Given the description of an element on the screen output the (x, y) to click on. 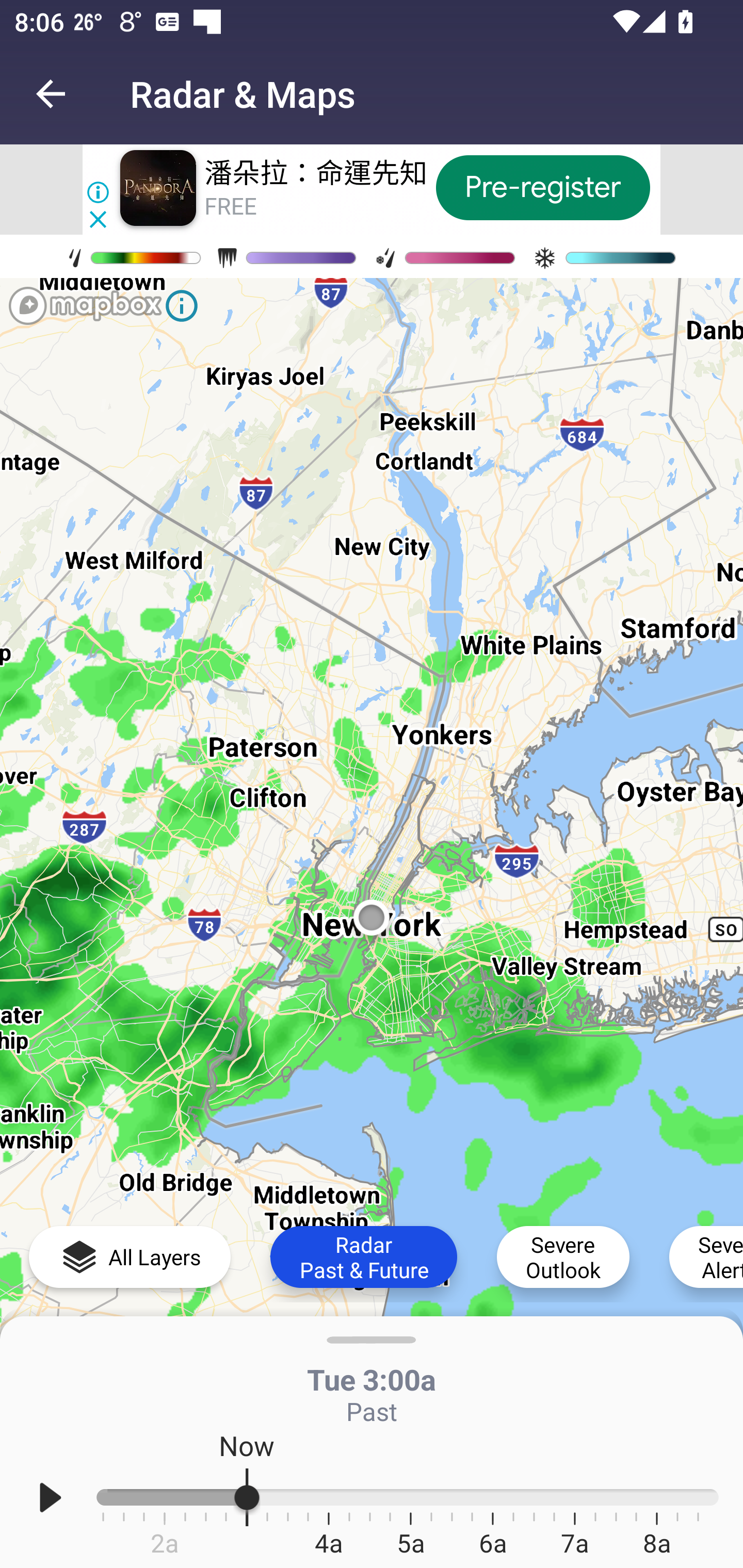
Navigate up (50, 93)
潘朵拉：命運先知 (316, 173)
Pre-register (542, 187)
FREE (230, 206)
All Layers (129, 1256)
Radar
Past & Future Radar Past & Future (363, 1256)
Severe
Outlook Severe Outlook (563, 1256)
Play (50, 1497)
